Given the description of an element on the screen output the (x, y) to click on. 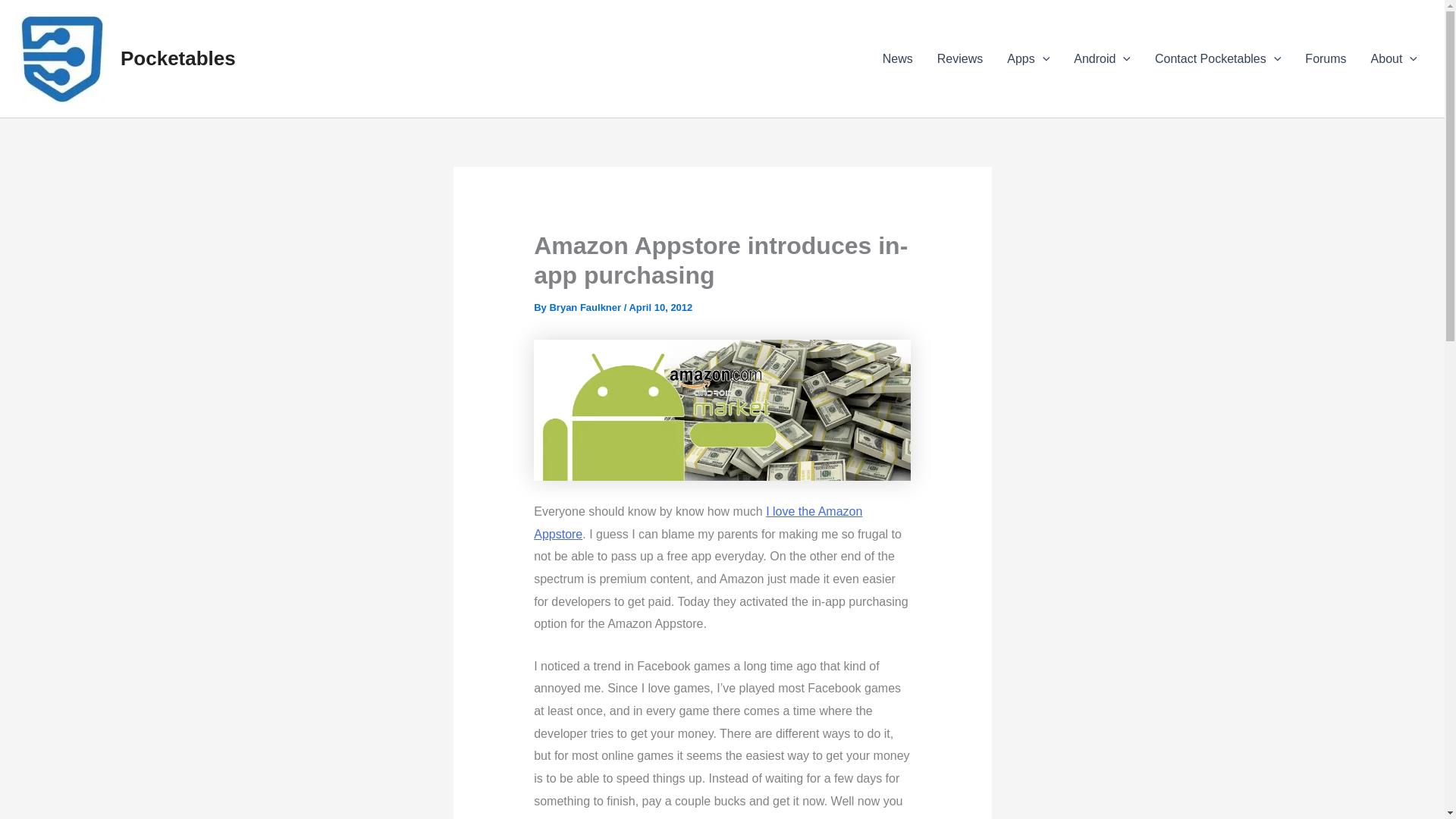
Amazon Appstore is an essential Android app to have (697, 522)
Reviews (959, 58)
Contact Pocketables (1217, 58)
Apps (1027, 58)
View all posts by Bryan Faulkner (584, 307)
News (897, 58)
Forums (1325, 58)
About (1393, 58)
Pocketables (177, 57)
Android (1101, 58)
